Given the description of an element on the screen output the (x, y) to click on. 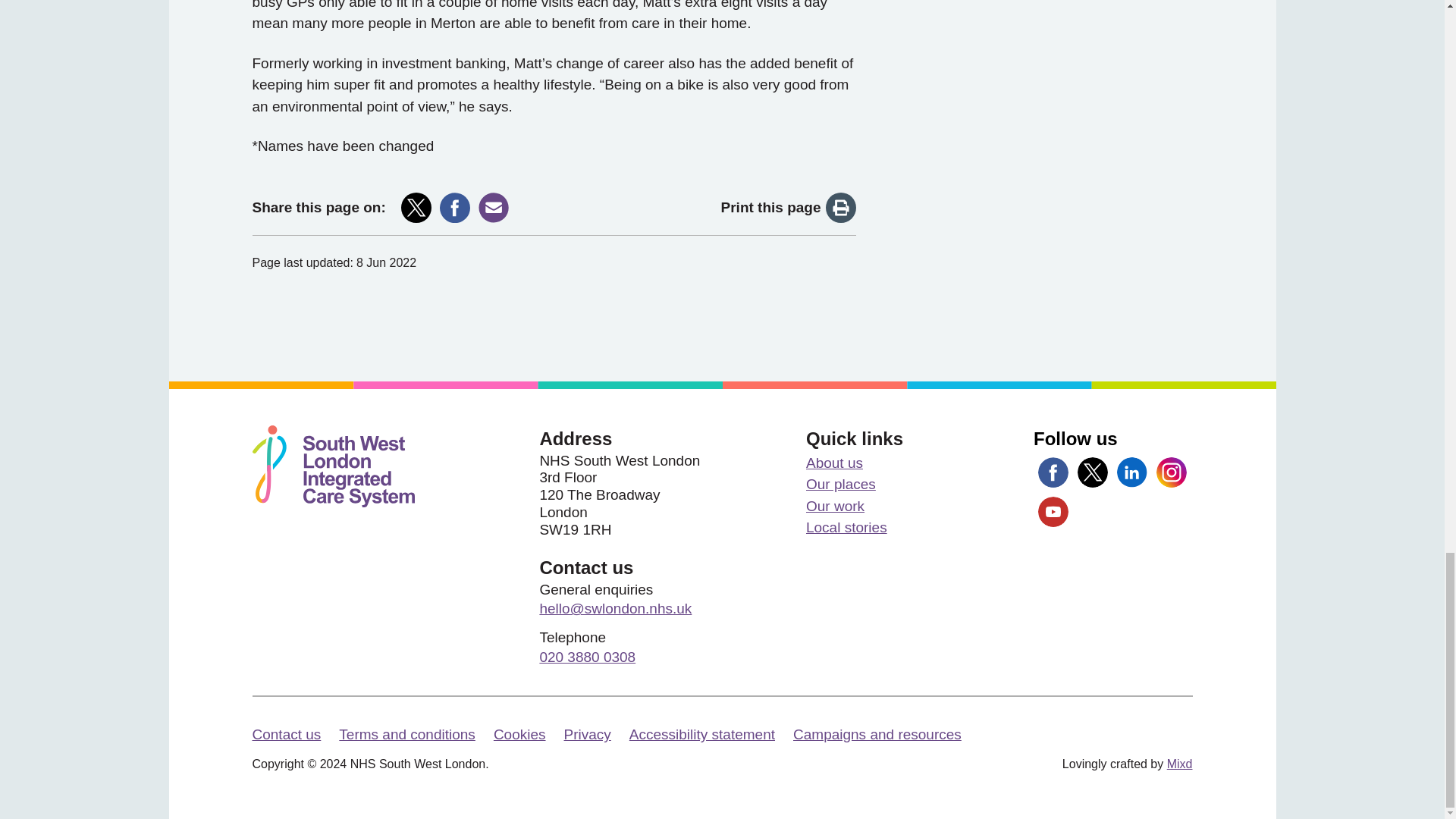
Share on X (415, 207)
South West London ICS Homepage (332, 465)
Share via Email (493, 207)
Share on Facebook (454, 207)
